Given the description of an element on the screen output the (x, y) to click on. 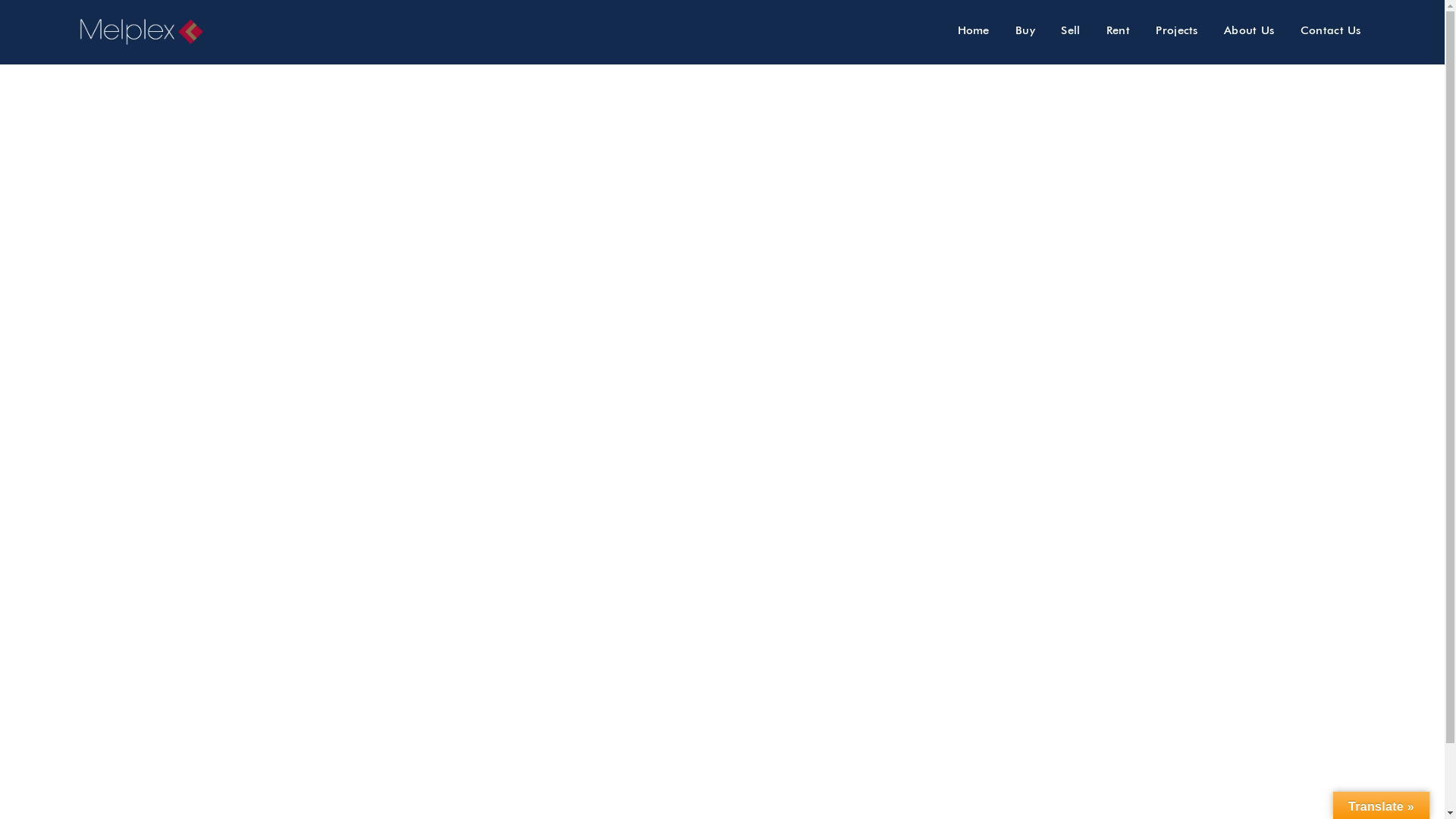
Sell Element type: text (1070, 30)
Contact Us Element type: text (1330, 30)
Home Element type: text (973, 30)
Rent Element type: text (1118, 30)
Projects Element type: text (1176, 30)
About Us Element type: text (1248, 30)
Melplex -  Element type: hover (147, 32)
Buy Element type: text (1025, 30)
